Given the description of an element on the screen output the (x, y) to click on. 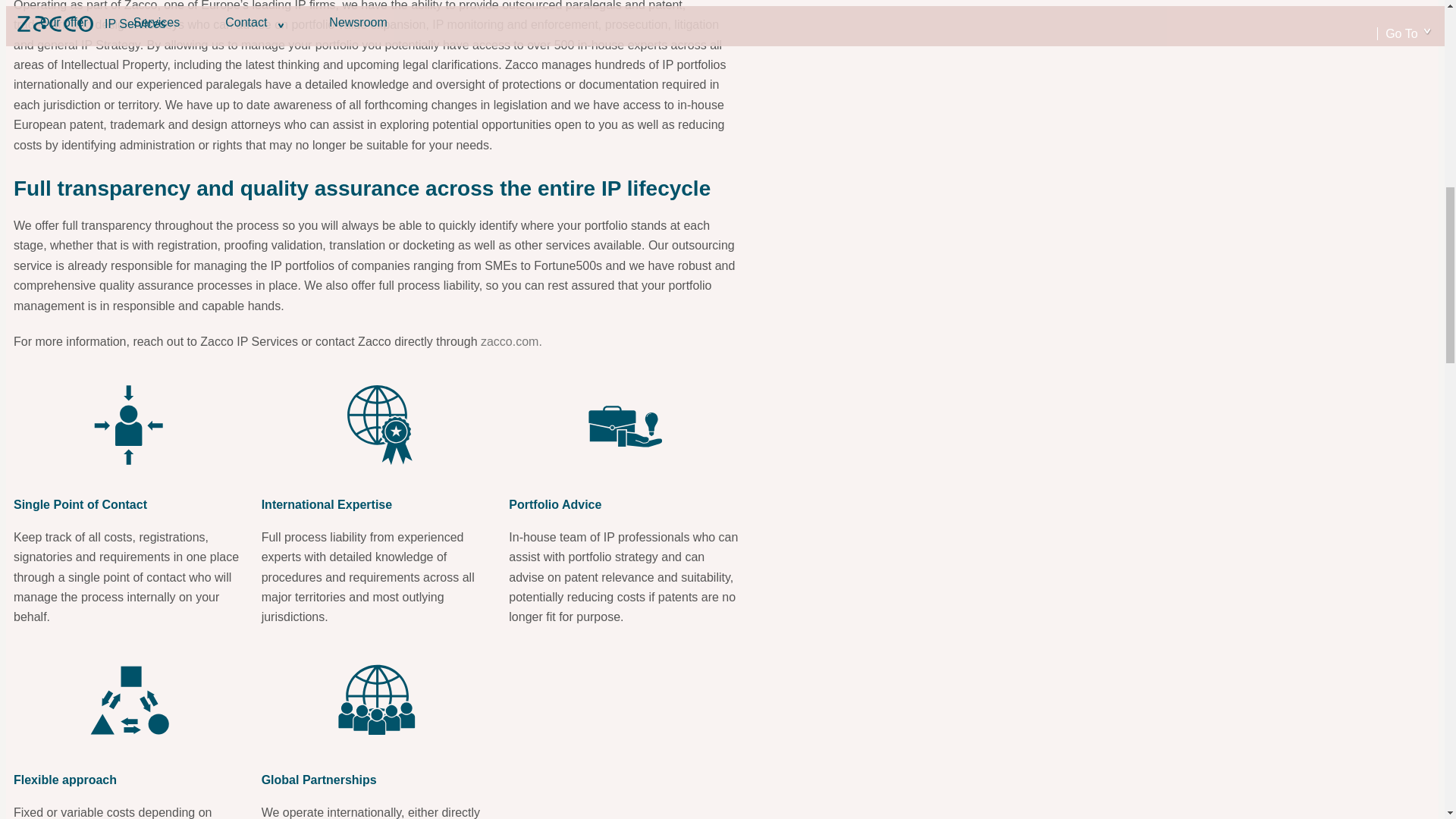
zacco.com. (510, 341)
